Given the description of an element on the screen output the (x, y) to click on. 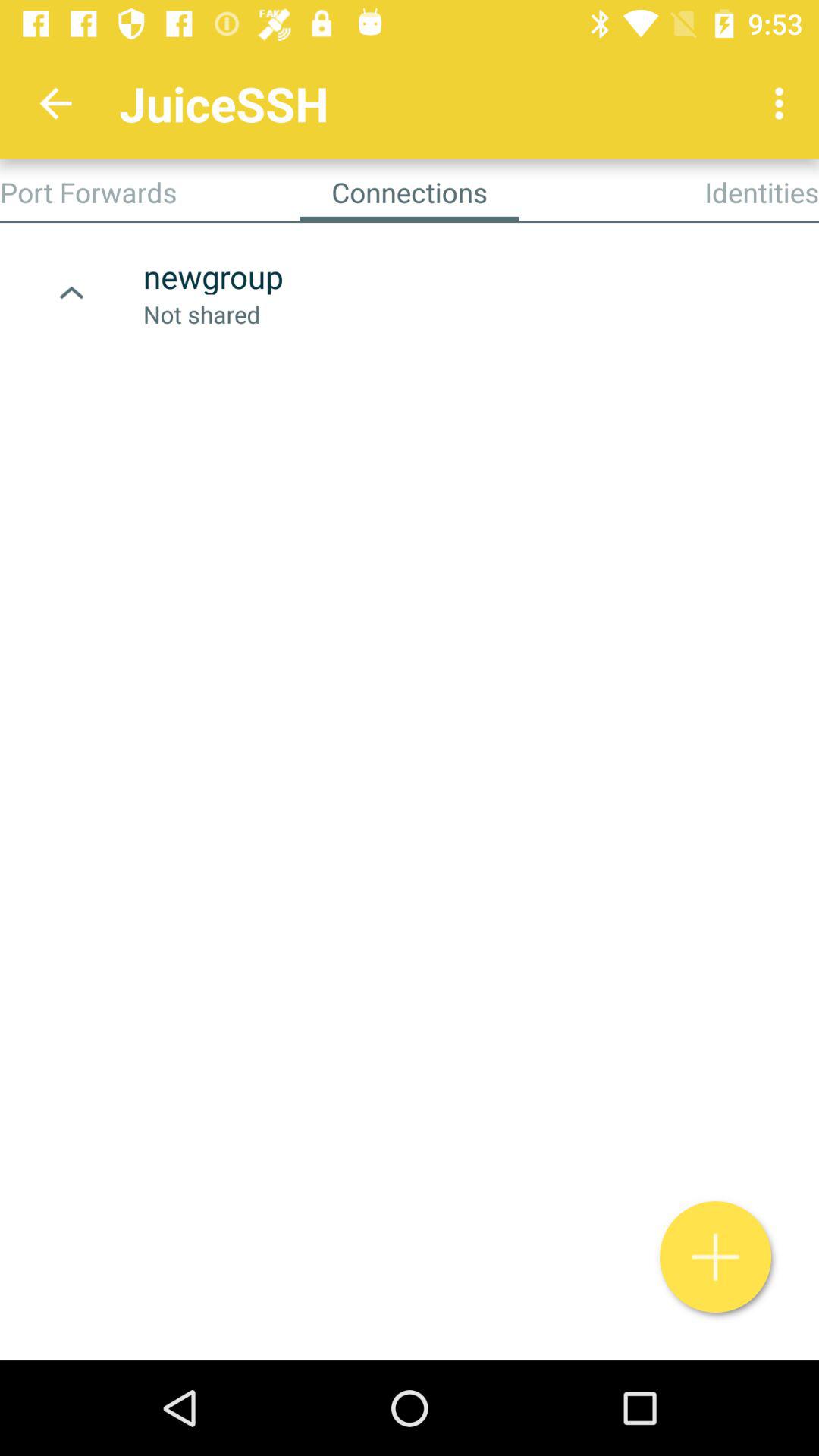
open icon to the left of connections app (88, 192)
